Given the description of an element on the screen output the (x, y) to click on. 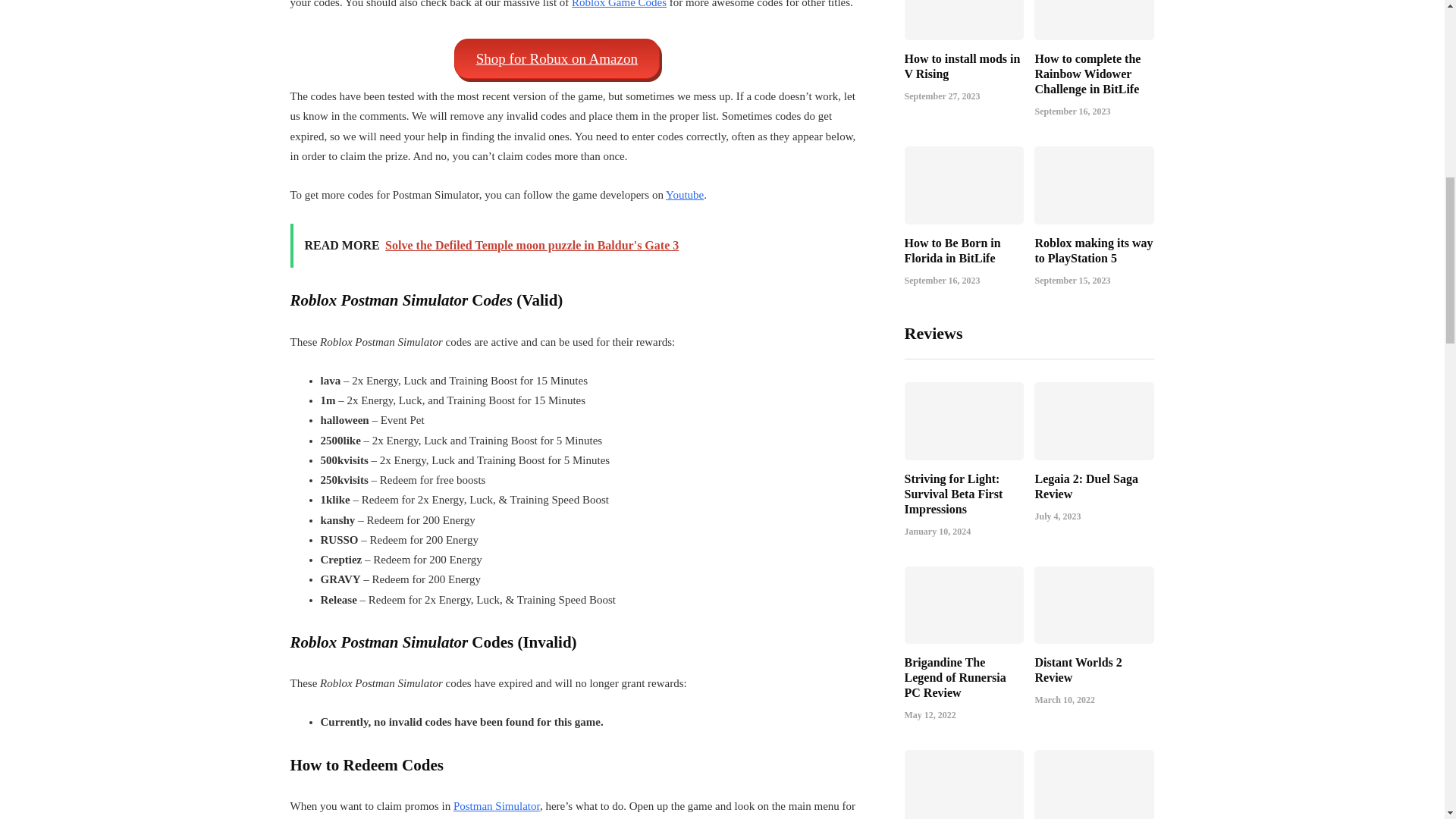
Roblox Game Codes (619, 3)
Postman Simulator (496, 806)
Youtube (684, 194)
Shop for Robux on Amazon (556, 58)
